Given the description of an element on the screen output the (x, y) to click on. 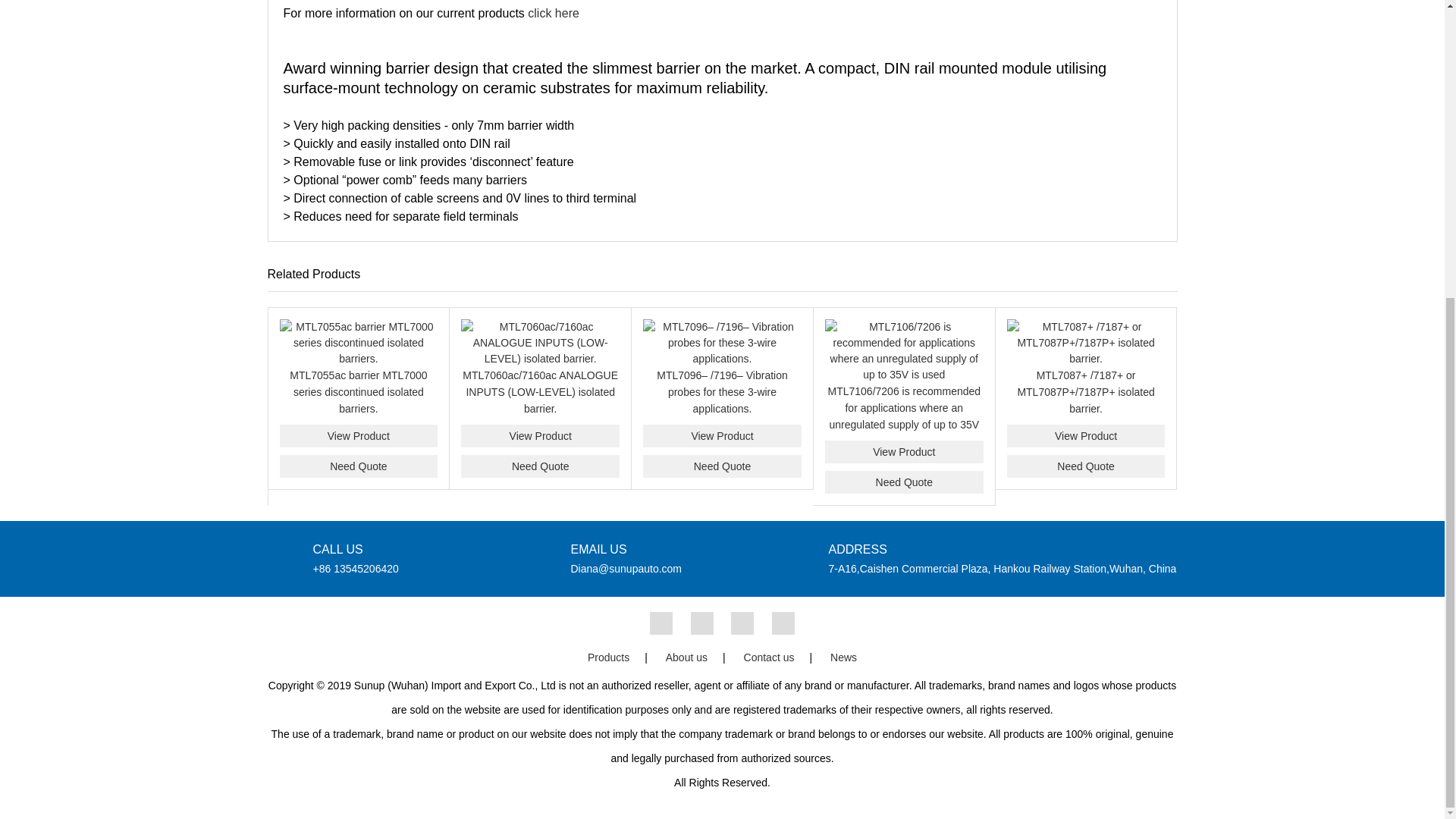
Need Quote (540, 466)
View Product (904, 451)
View Product (722, 436)
Need Quote (904, 481)
click here (553, 12)
Products (553, 12)
View Product (358, 436)
Need Quote (722, 466)
View Product (540, 436)
Need Quote (358, 466)
